Given the description of an element on the screen output the (x, y) to click on. 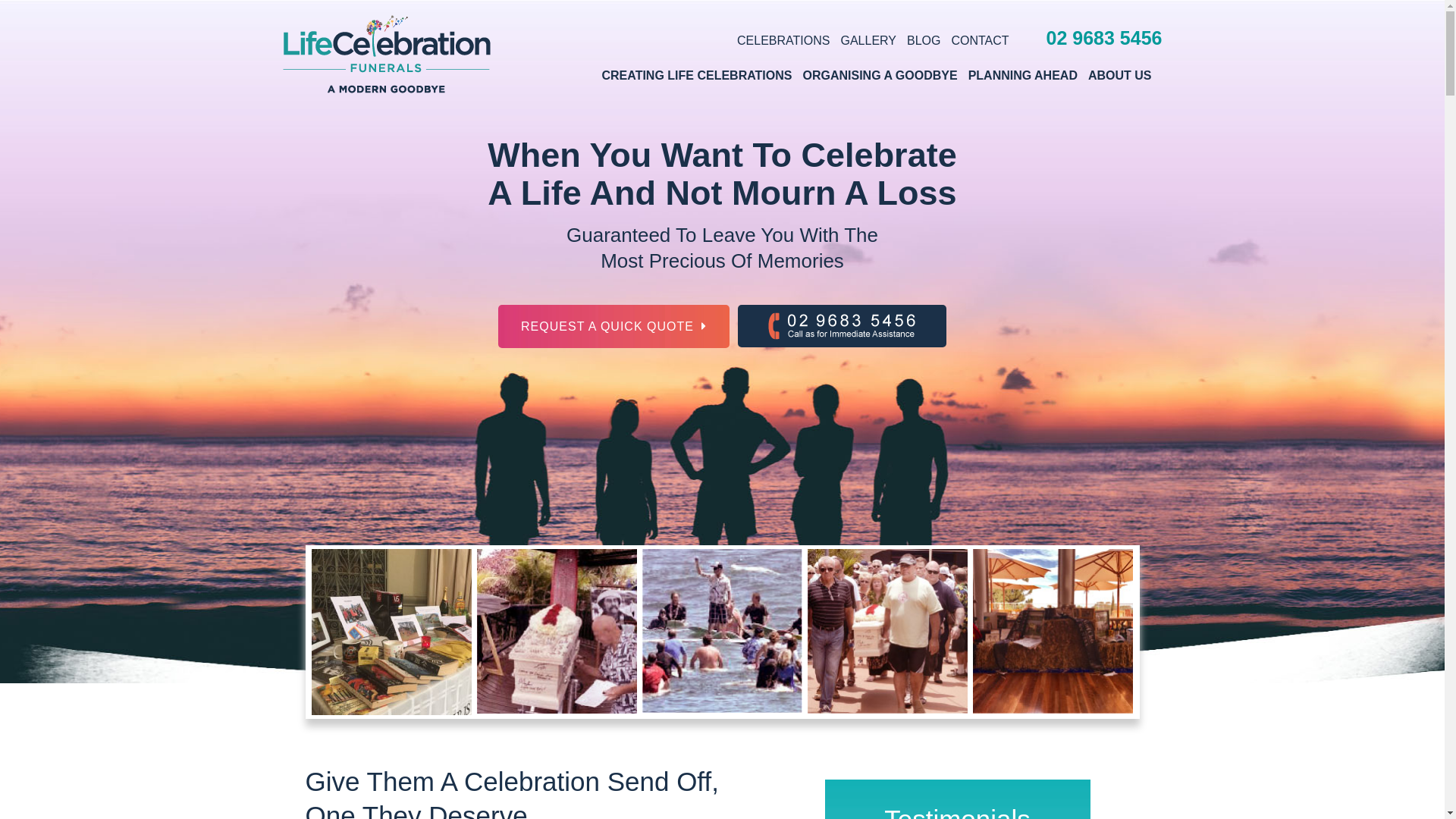
ABOUT US Element type: text (1119, 75)
REQUEST A QUICK QUOTE Element type: text (613, 326)
Life Celebration Element type: text (387, 54)
CONTACT Element type: text (979, 40)
 02 9683 5456 Element type: text (1099, 37)
CREATING LIFE CELEBRATIONS Element type: text (696, 75)
GALLERY Element type: text (867, 40)
CELEBRATIONS Element type: text (782, 40)
ORGANISING A GOODBYE Element type: text (879, 75)
02 9683 5456 Element type: text (841, 325)
BLOG Element type: text (923, 40)
PLANNING AHEAD Element type: text (1022, 75)
